Given the description of an element on the screen output the (x, y) to click on. 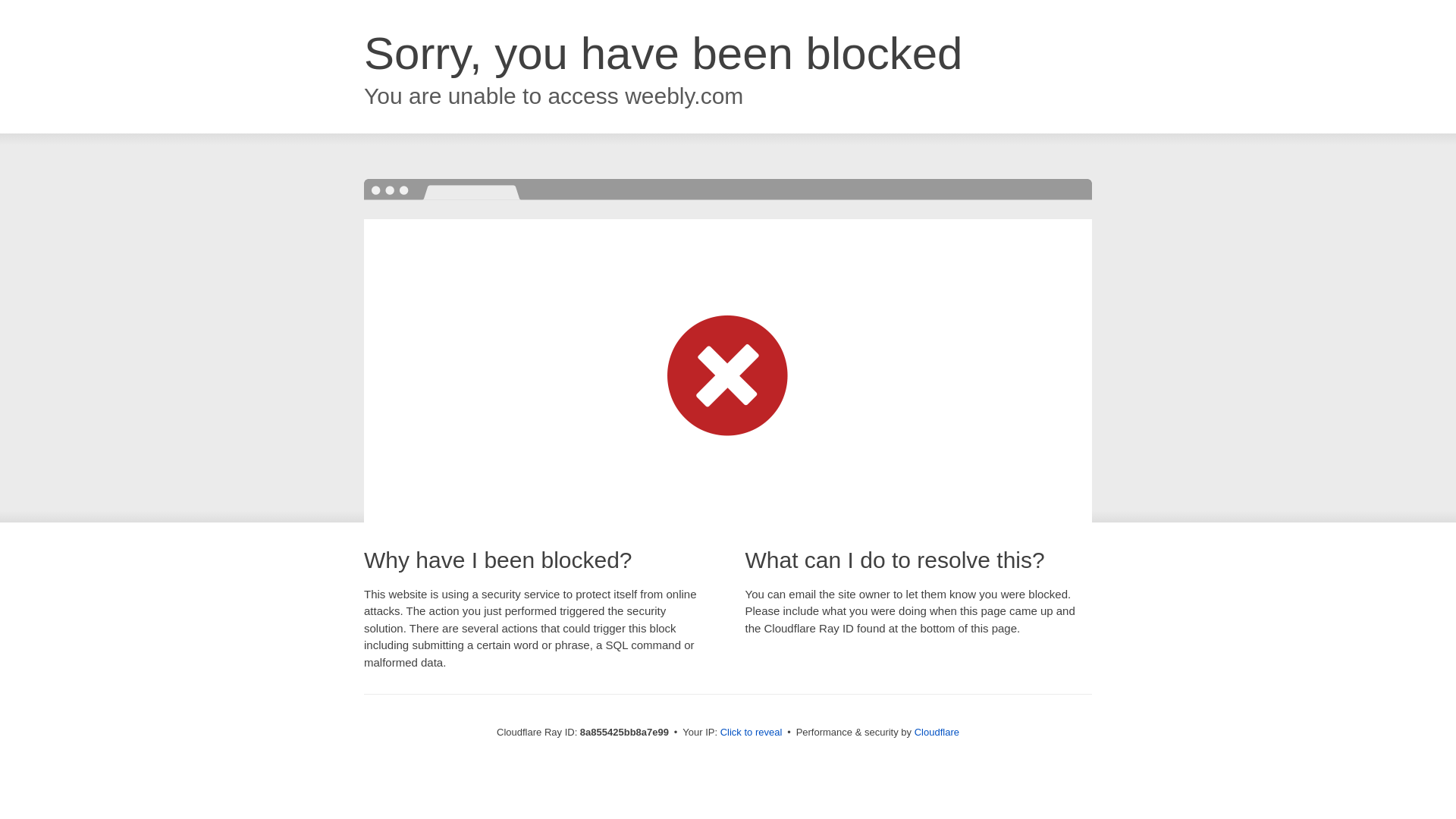
Click to reveal (751, 732)
Cloudflare (936, 731)
